Given the description of an element on the screen output the (x, y) to click on. 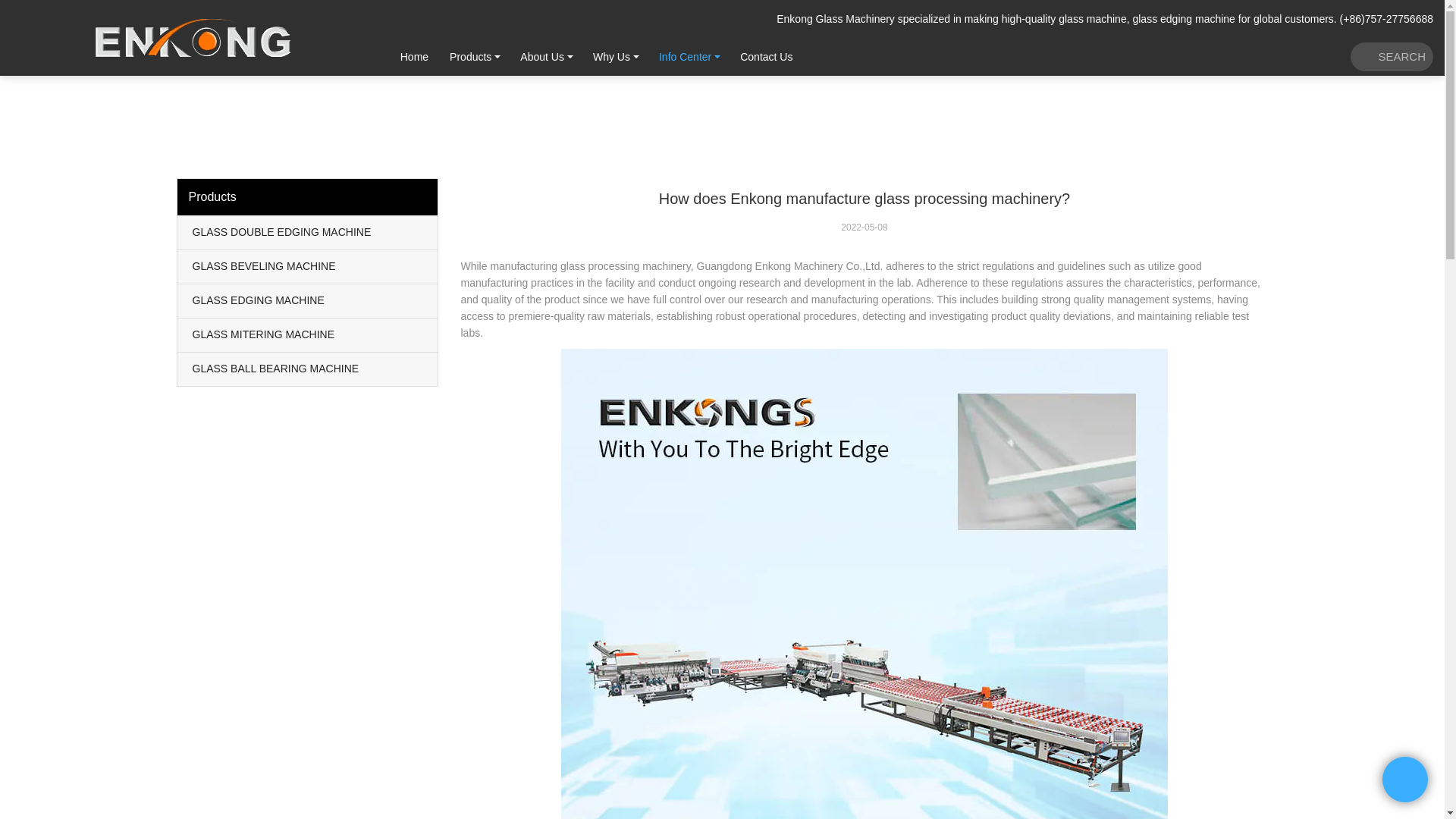
GLASS DOUBLE EDGING MACHINE (307, 232)
Contact Us (766, 56)
GLASS BEVELING MACHINE (307, 266)
Products (470, 56)
Info Center (684, 56)
GLASS BALL BEARING MACHINE (307, 368)
GLASS EDGING MACHINE (307, 300)
Why Us (611, 56)
GLASS MITERING MACHINE (307, 335)
Home (414, 56)
